Given the description of an element on the screen output the (x, y) to click on. 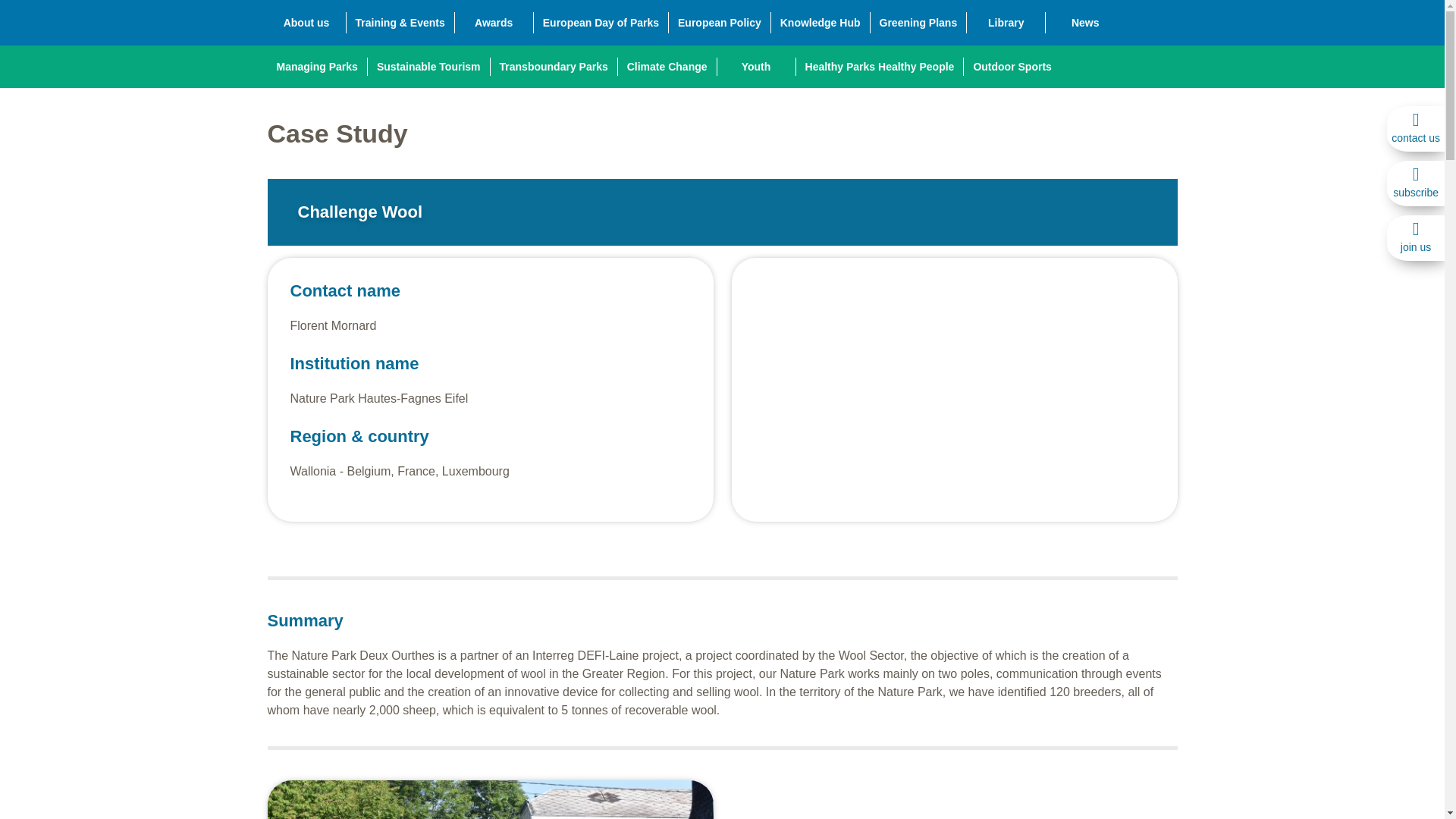
Back to EUROPARC Federation homepage (423, 57)
About us (306, 22)
